Given the description of an element on the screen output the (x, y) to click on. 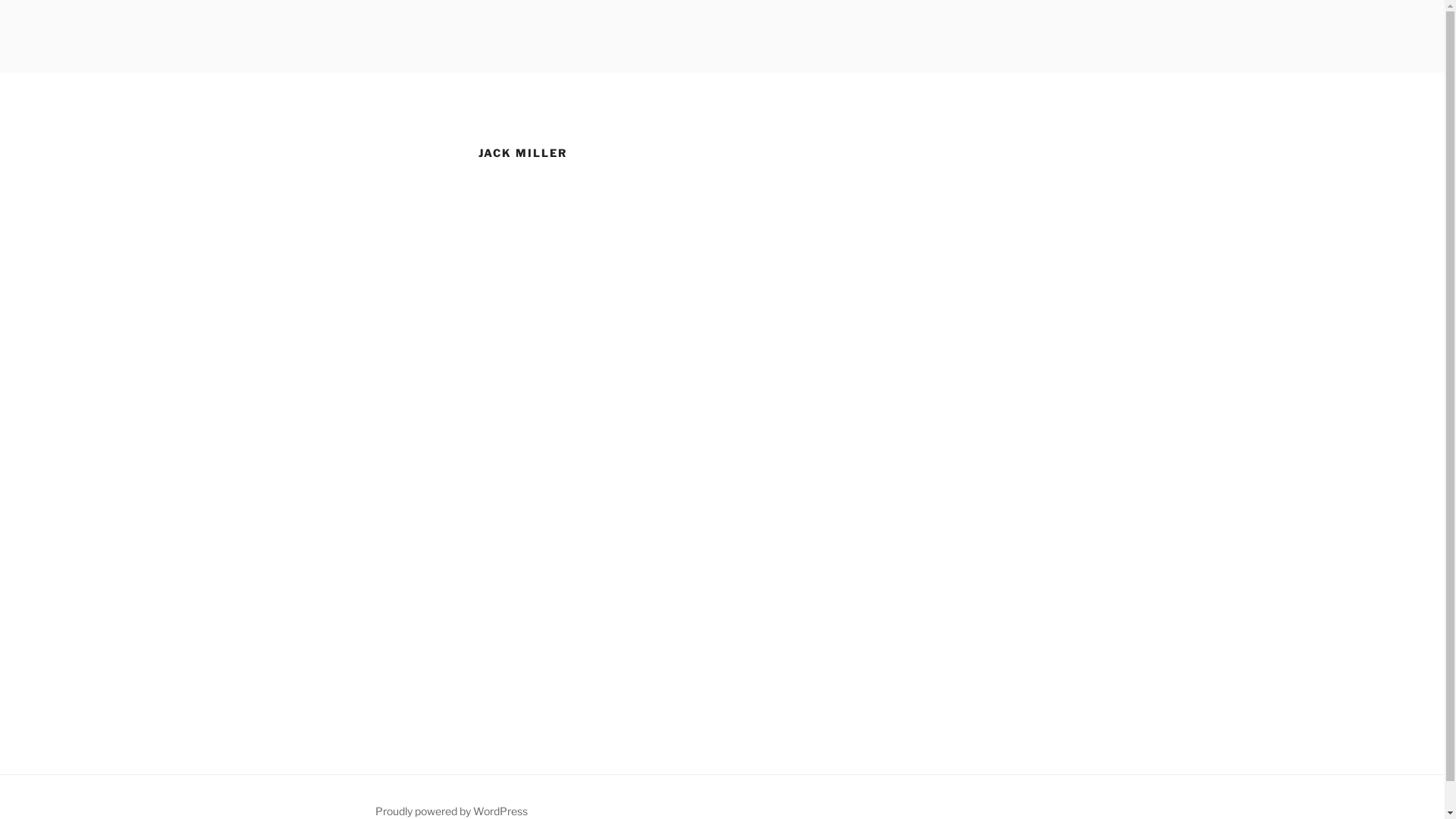
Proudly powered by WordPress Element type: text (450, 810)
JACK MILLER Element type: text (483, 52)
Scroll down to content Element type: text (1082, 81)
